Given the description of an element on the screen output the (x, y) to click on. 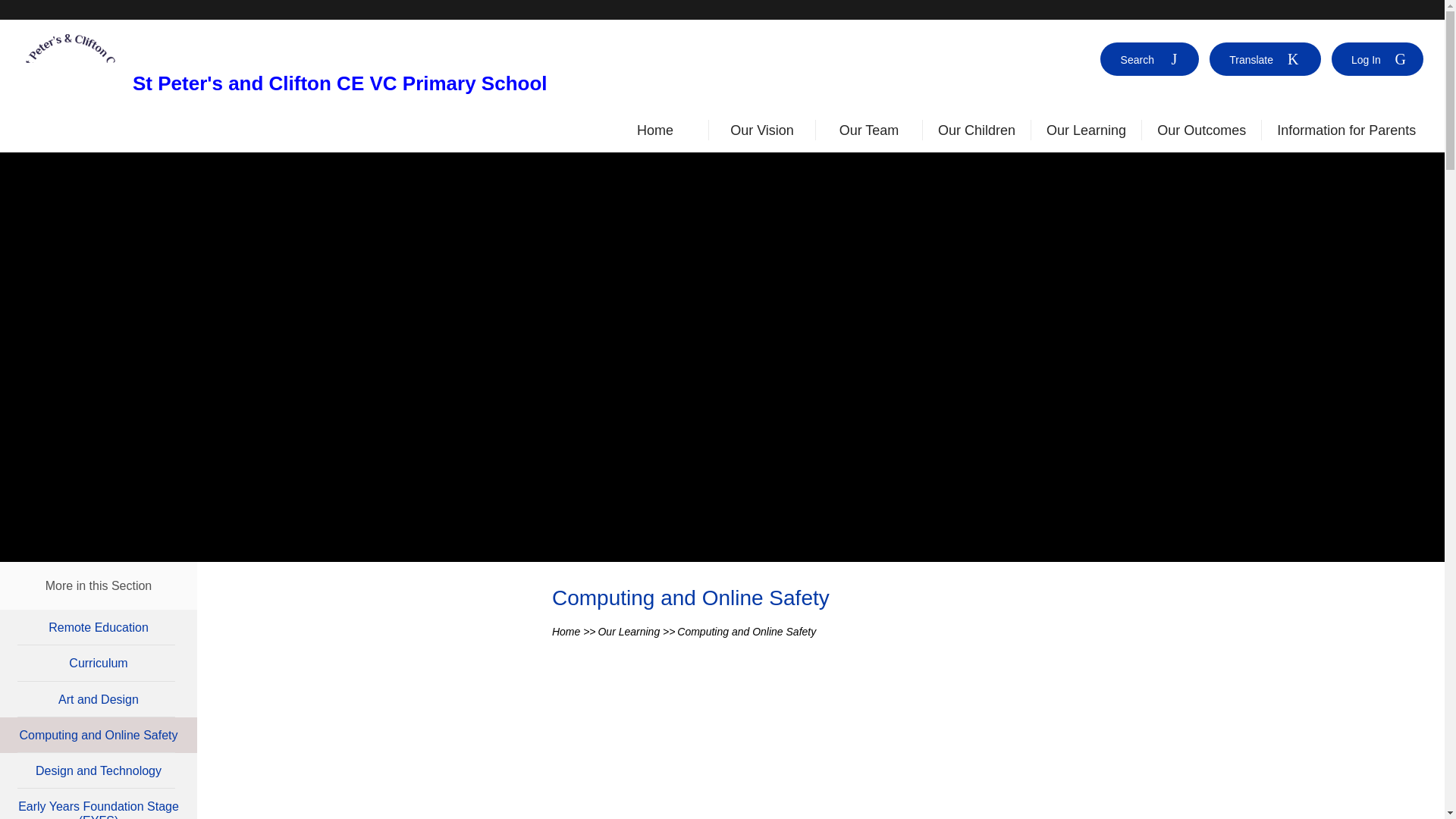
Our Team (869, 133)
Home (655, 133)
Home Page (70, 86)
Our Vision (761, 133)
Our Children (975, 133)
